Given the description of an element on the screen output the (x, y) to click on. 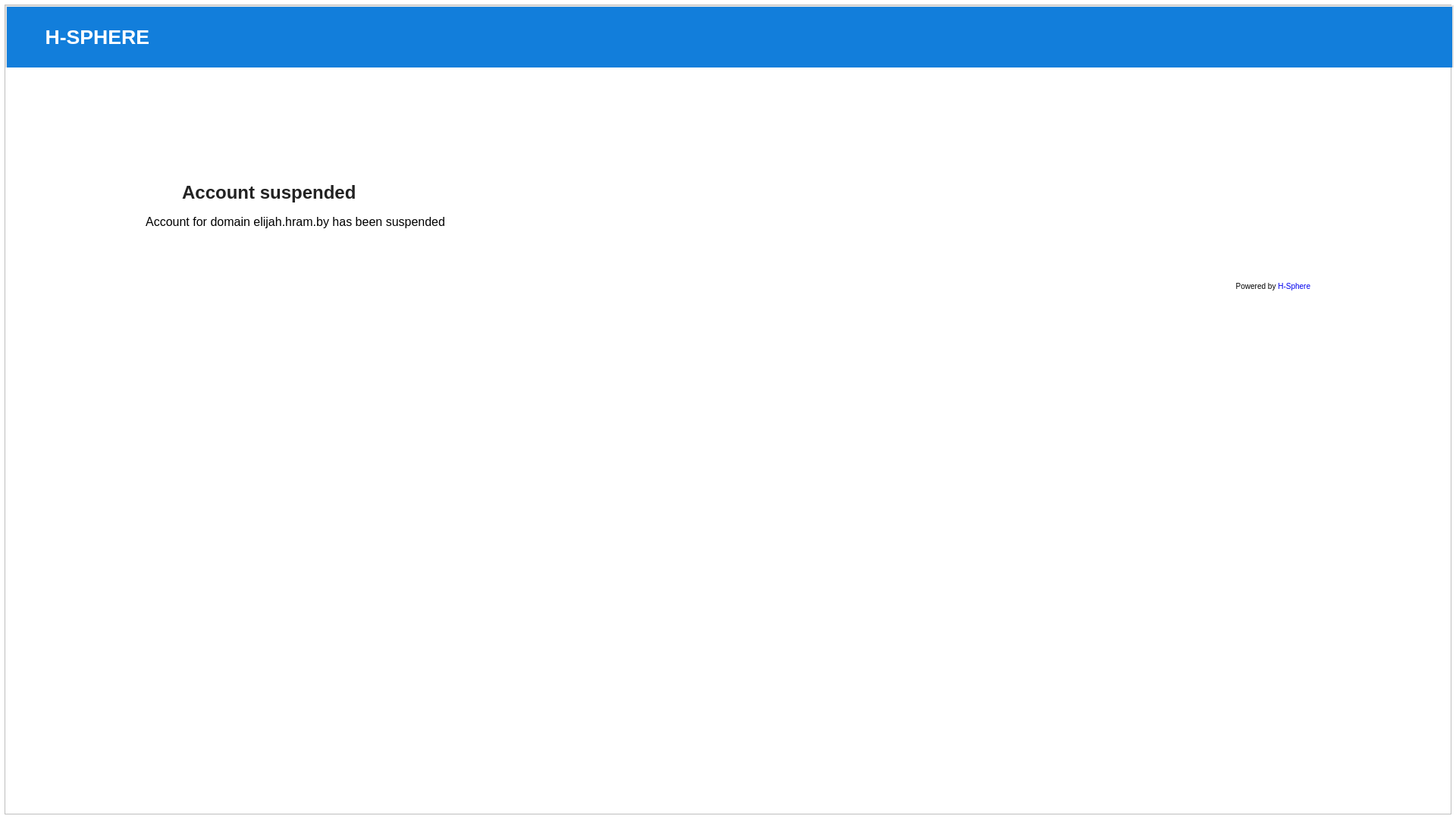
H-Sphere Element type: text (1293, 286)
